Given the description of an element on the screen output the (x, y) to click on. 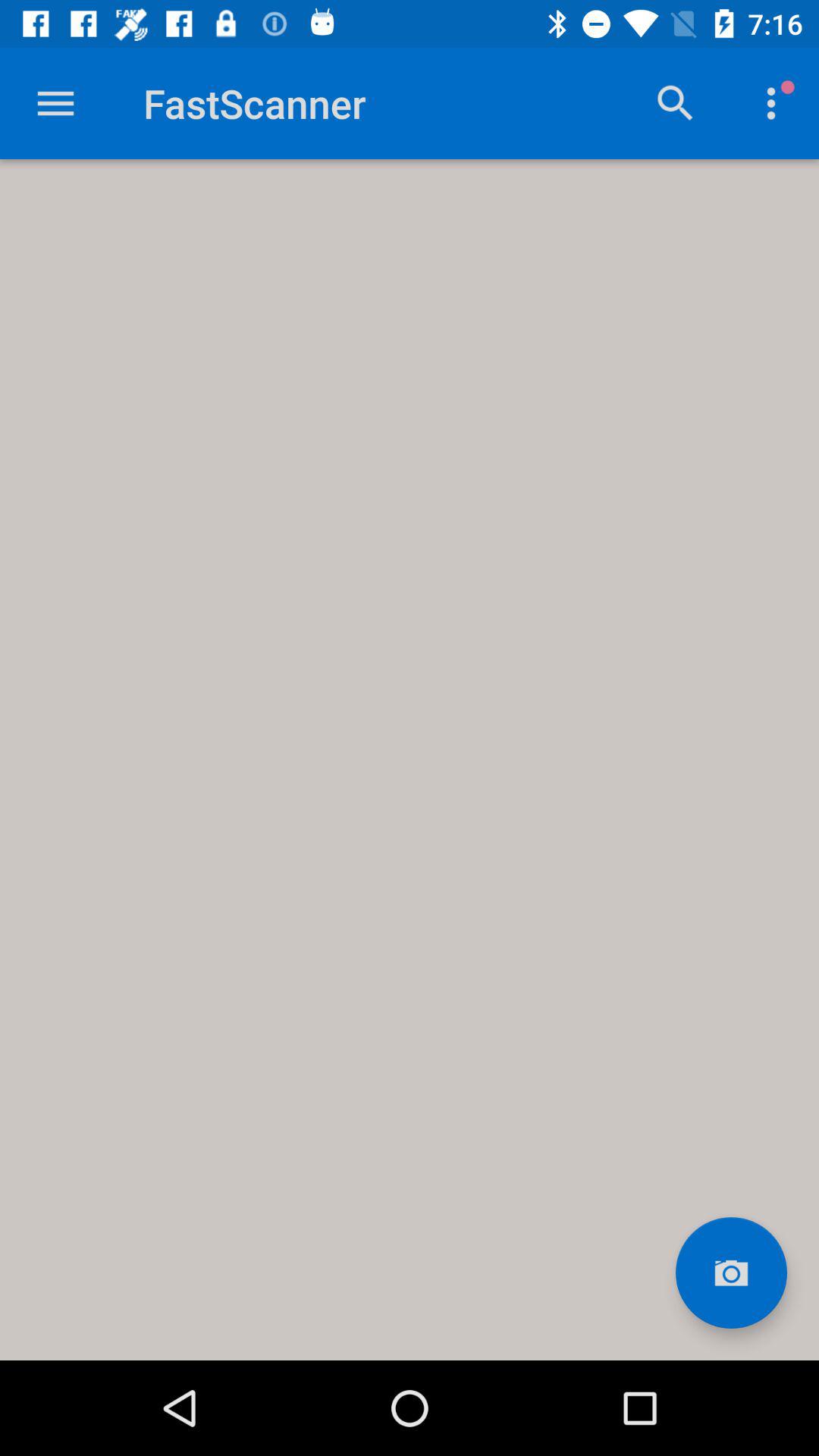
go to image selection area (731, 1272)
